Given the description of an element on the screen output the (x, y) to click on. 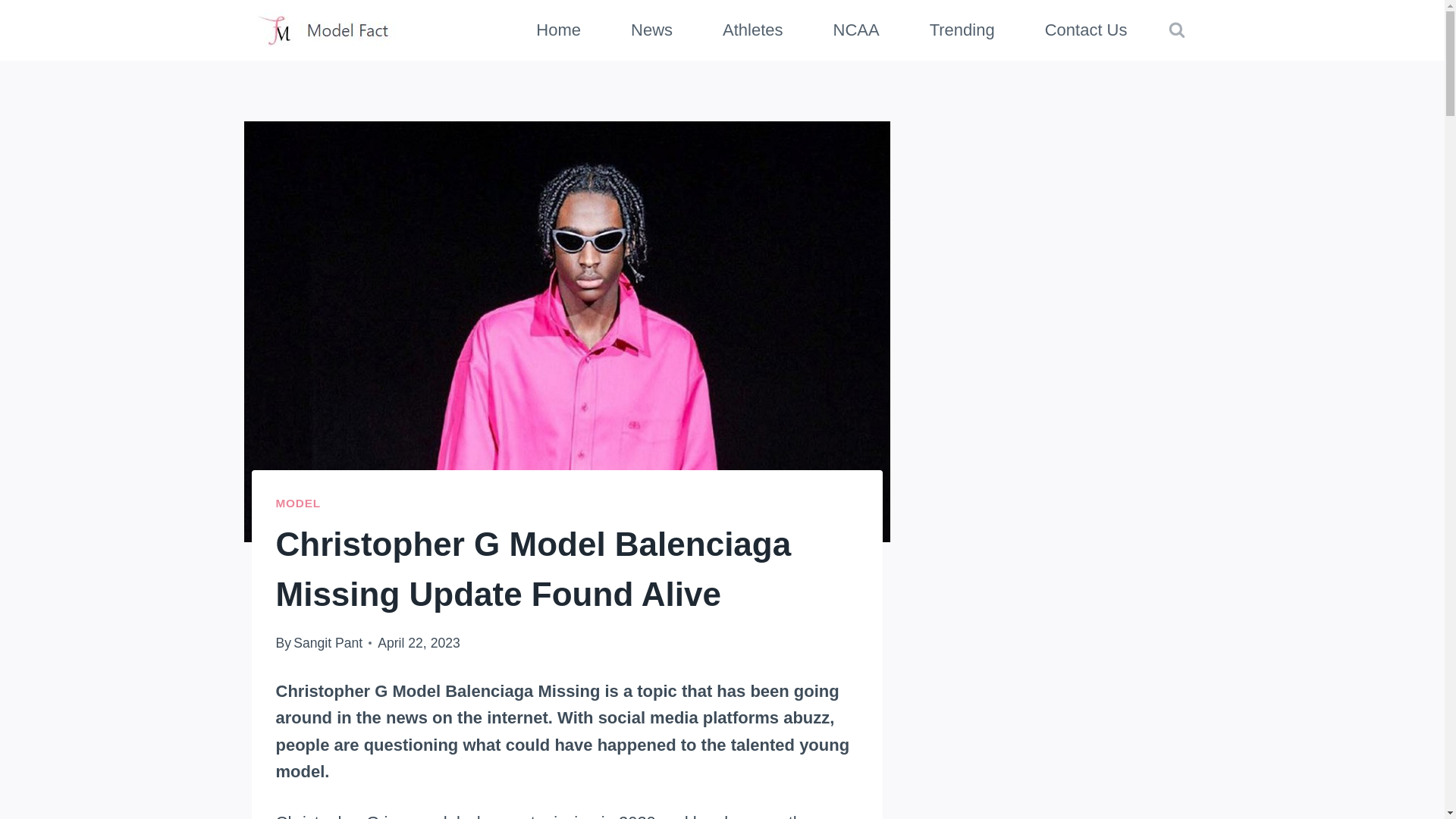
Home (558, 30)
News (651, 30)
Trending (962, 30)
Contact Us (1086, 30)
Athletes (752, 30)
Sangit Pant (328, 642)
MODEL (298, 502)
NCAA (856, 30)
